Given the description of an element on the screen output the (x, y) to click on. 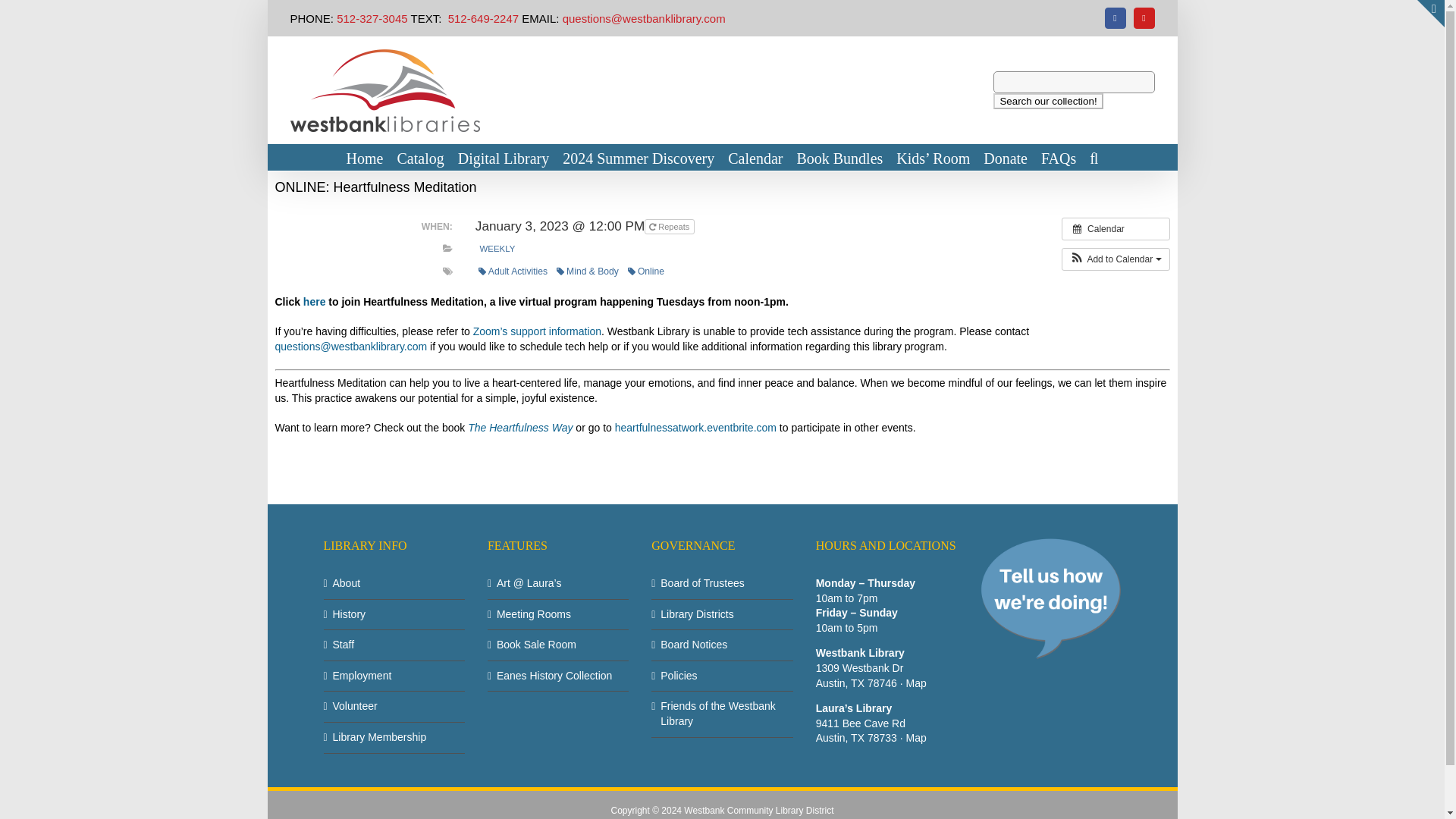
View all events (1115, 228)
Home (365, 157)
YouTube (1143, 17)
Tags (447, 271)
2024 Summer Discovery (638, 157)
Search our collection! (1047, 100)
Digital Library (504, 157)
Catalog (420, 157)
Calendar (755, 157)
Donate (1005, 157)
FAQs (1058, 157)
Book Bundles (839, 157)
Categories (447, 248)
Calendar (1115, 228)
Search our collection! (1047, 100)
